Given the description of an element on the screen output the (x, y) to click on. 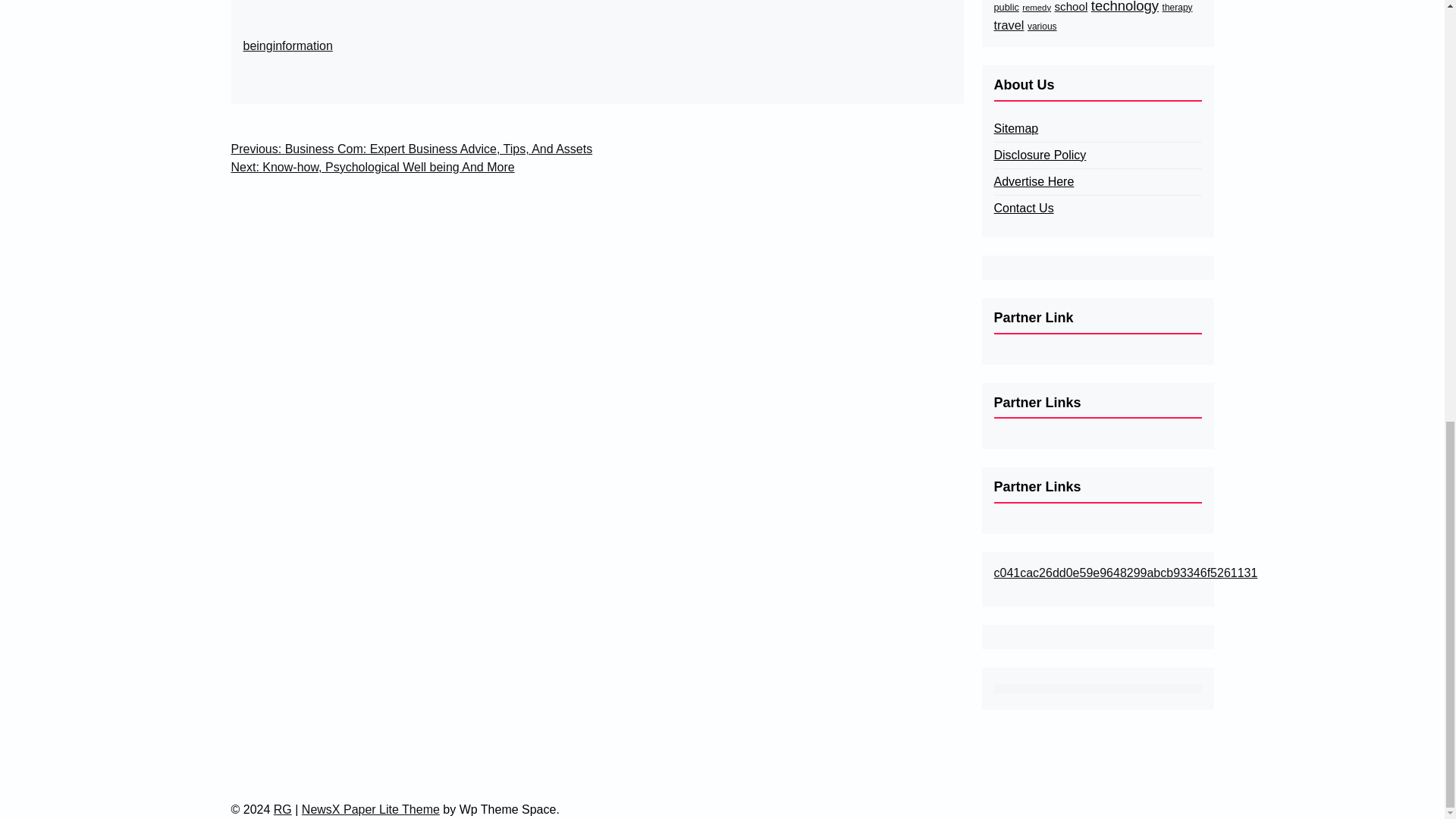
Seedbacklink (1096, 688)
Next: Know-how, Psychological Well being And More (371, 167)
being (257, 45)
information (303, 45)
